Given the description of an element on the screen output the (x, y) to click on. 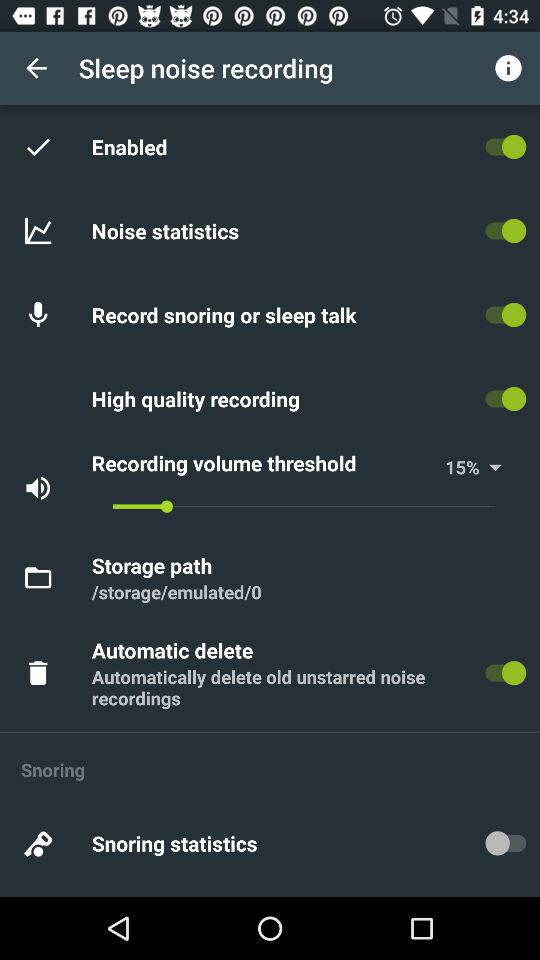
choose % (488, 467)
